Given the description of an element on the screen output the (x, y) to click on. 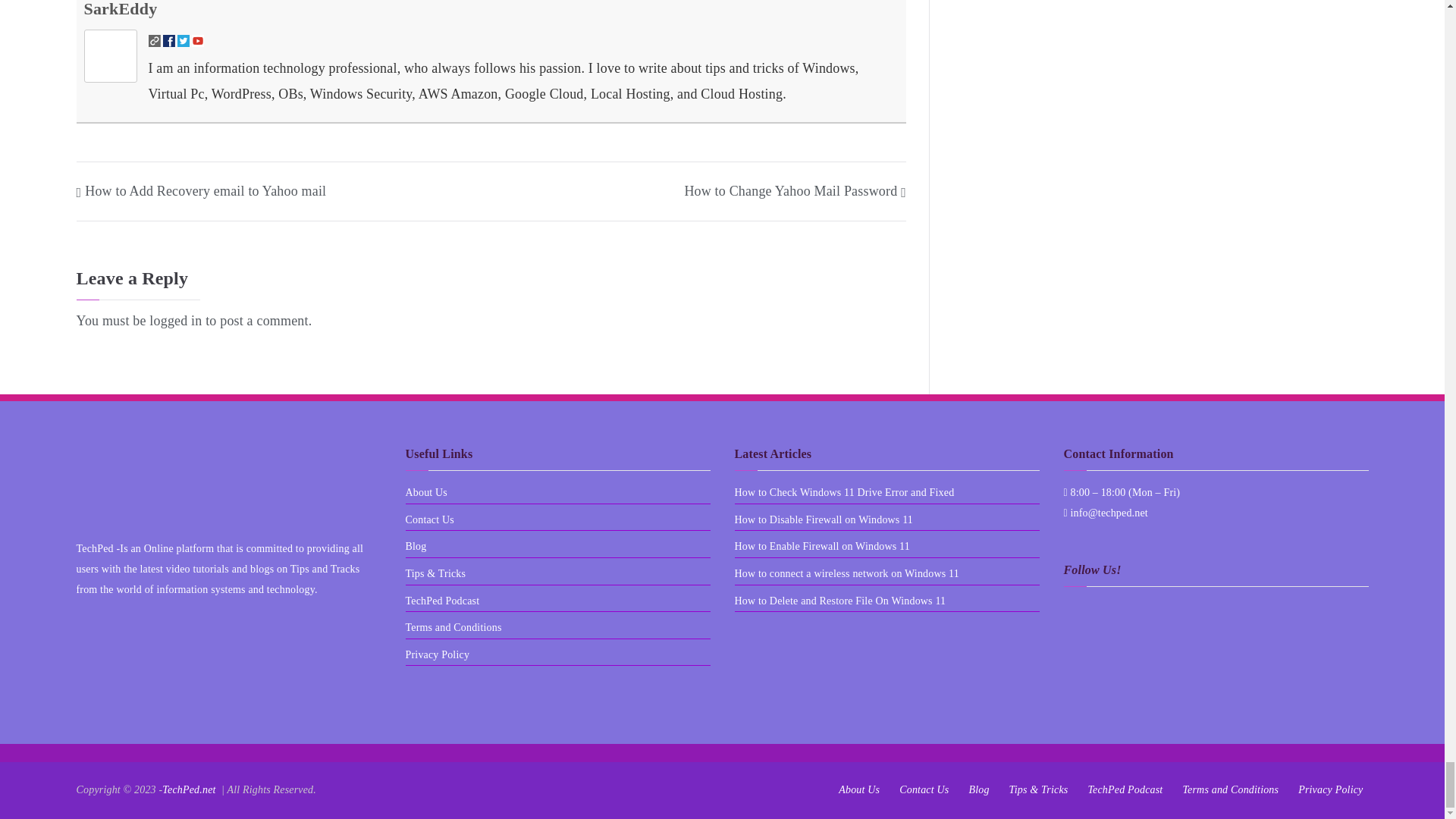
All posts by SarkEddy (119, 9)
